Given the description of an element on the screen output the (x, y) to click on. 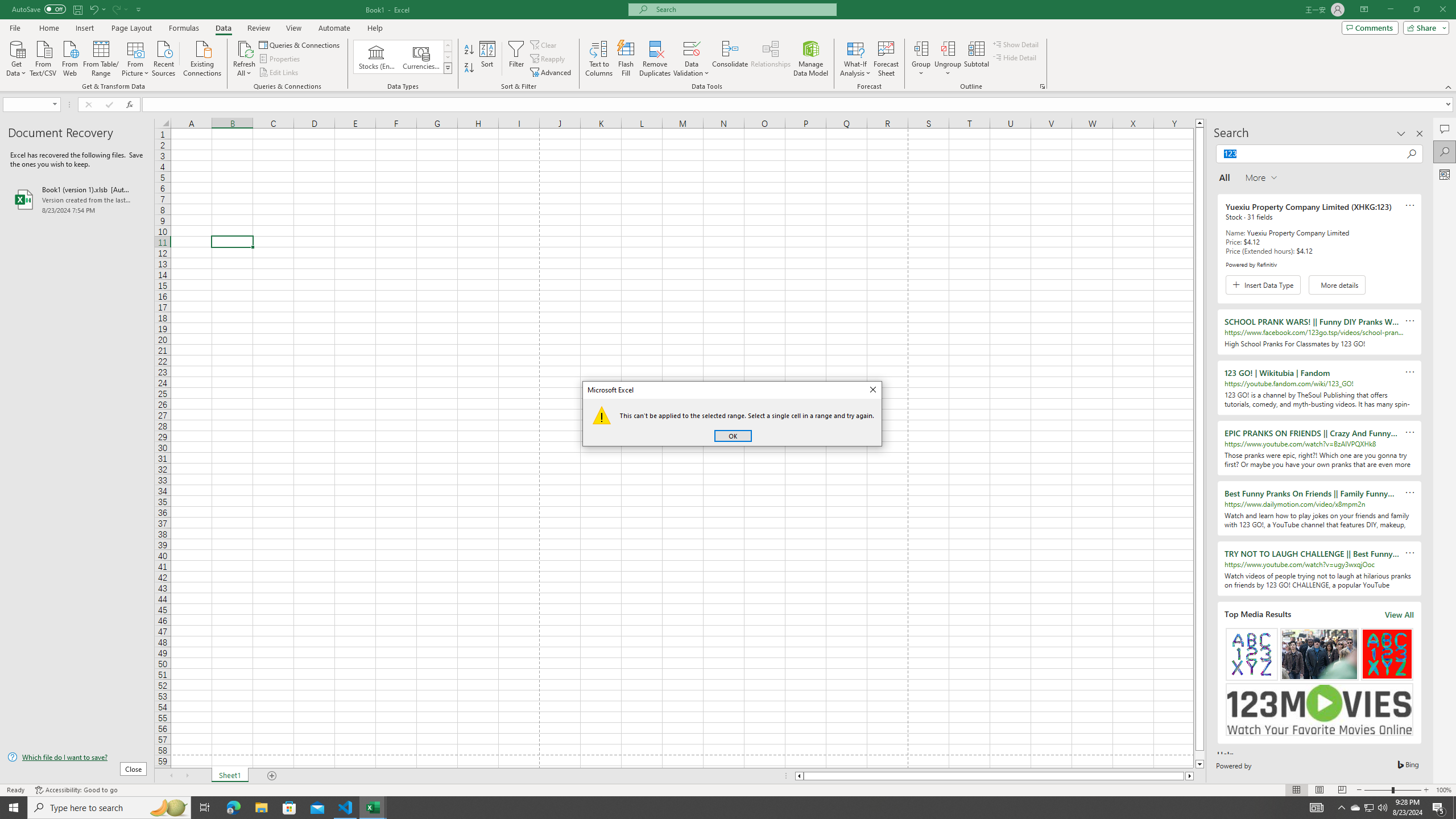
Sort A to Z (469, 49)
User Promoted Notification Area (1368, 807)
Page down (1199, 755)
Notification Chevron (1341, 807)
Clear (544, 44)
From Picture (135, 57)
File Tab (15, 27)
Group... (921, 58)
Close pane (1419, 133)
Normal (1296, 790)
From Table/Range (100, 57)
Q2790: 100% (1382, 807)
